Given the description of an element on the screen output the (x, y) to click on. 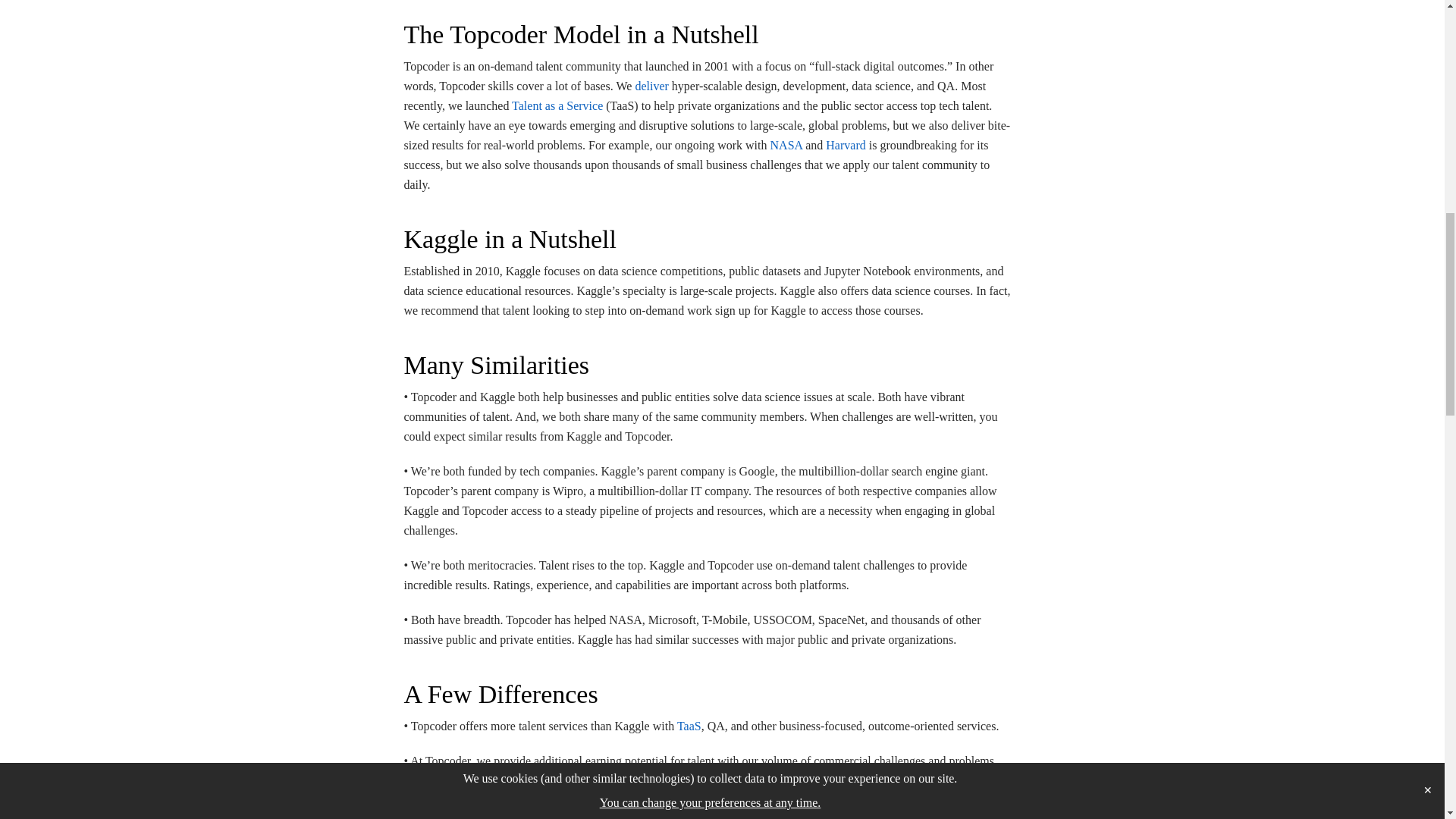
Talent as a Service (557, 105)
Harvard (844, 144)
deliver (651, 85)
NASA (786, 144)
TaaS (689, 725)
